Given the description of an element on the screen output the (x, y) to click on. 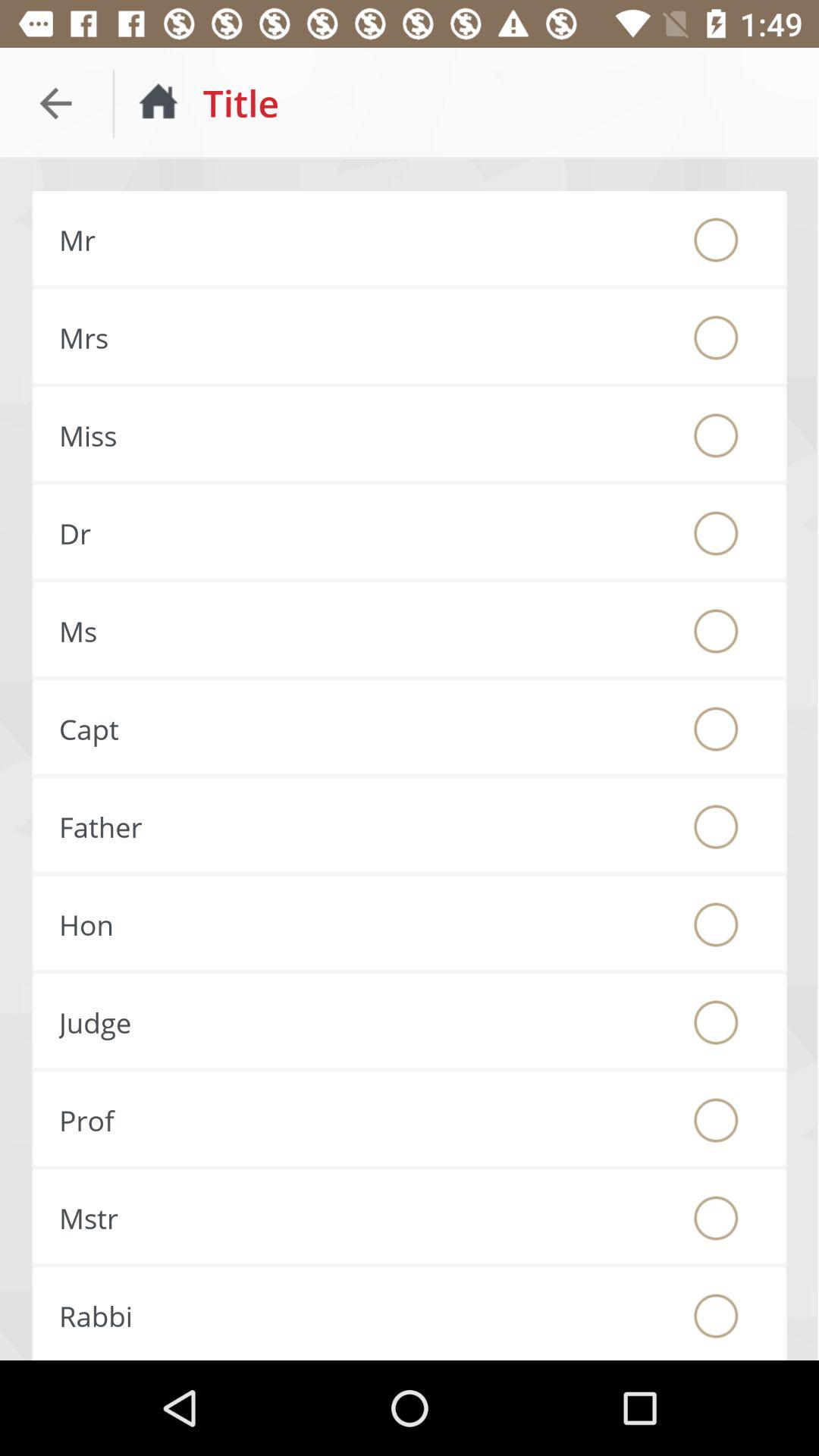
select capt as title (715, 728)
